Given the description of an element on the screen output the (x, y) to click on. 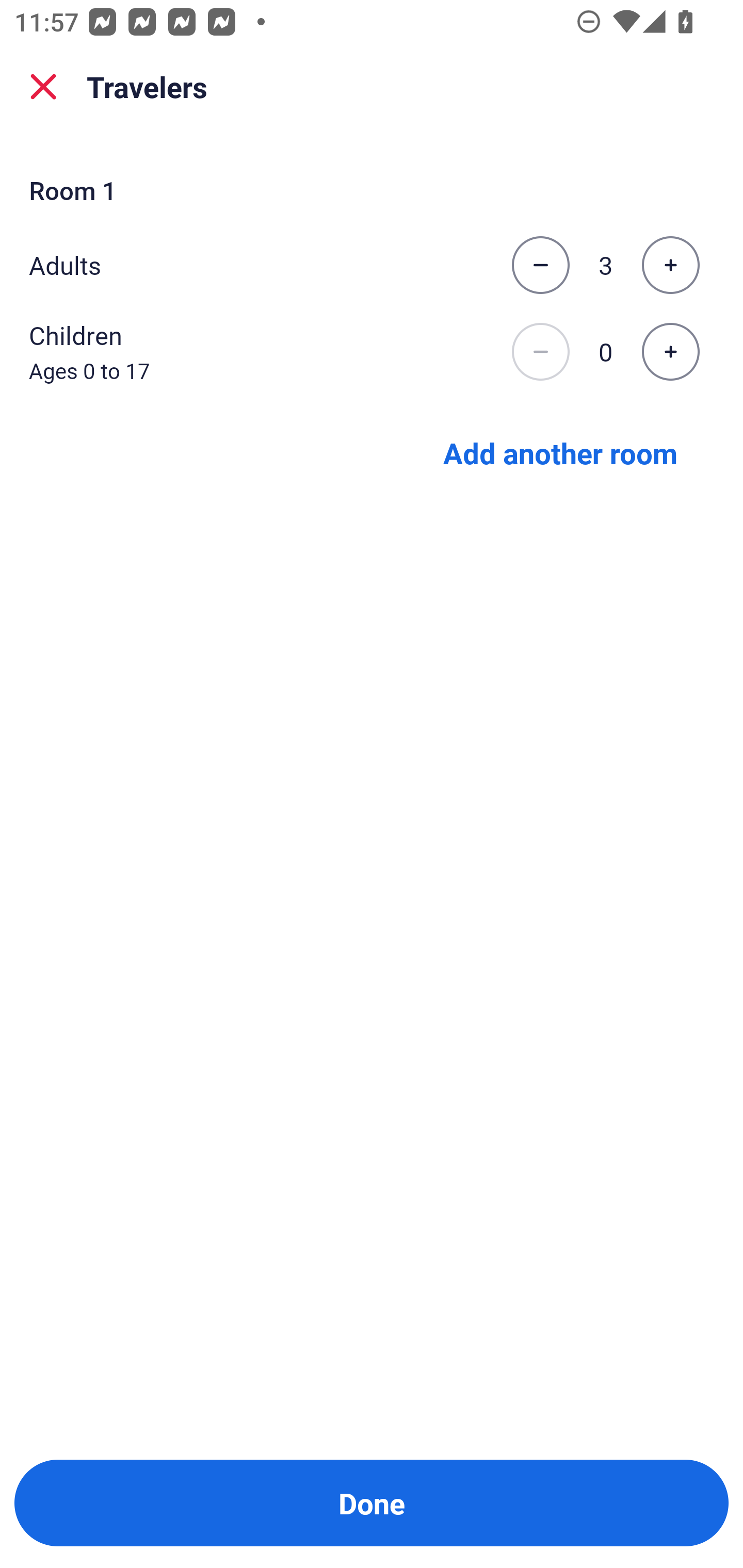
close (43, 86)
Decrease the number of adults (540, 264)
Increase the number of adults (670, 264)
Decrease the number of children (540, 351)
Increase the number of children (670, 351)
Add another room (560, 452)
Done (371, 1502)
